Given the description of an element on the screen output the (x, y) to click on. 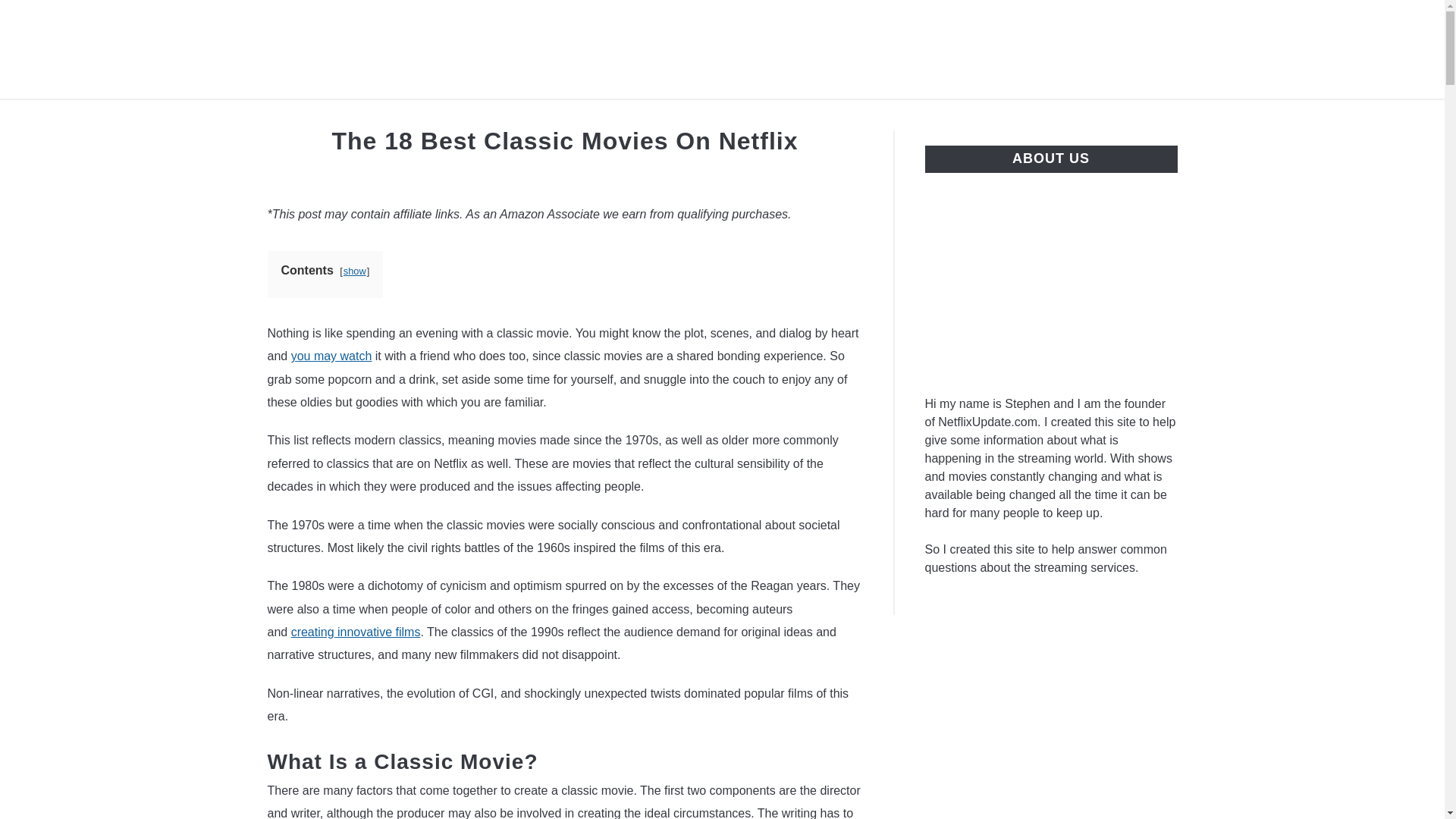
AVAILABLE ON NETFLIX (353, 117)
creating innovative films (355, 631)
Search (1203, 49)
you may watch (331, 355)
show (354, 270)
NETFLIX FAQS (509, 117)
